Given the description of an element on the screen output the (x, y) to click on. 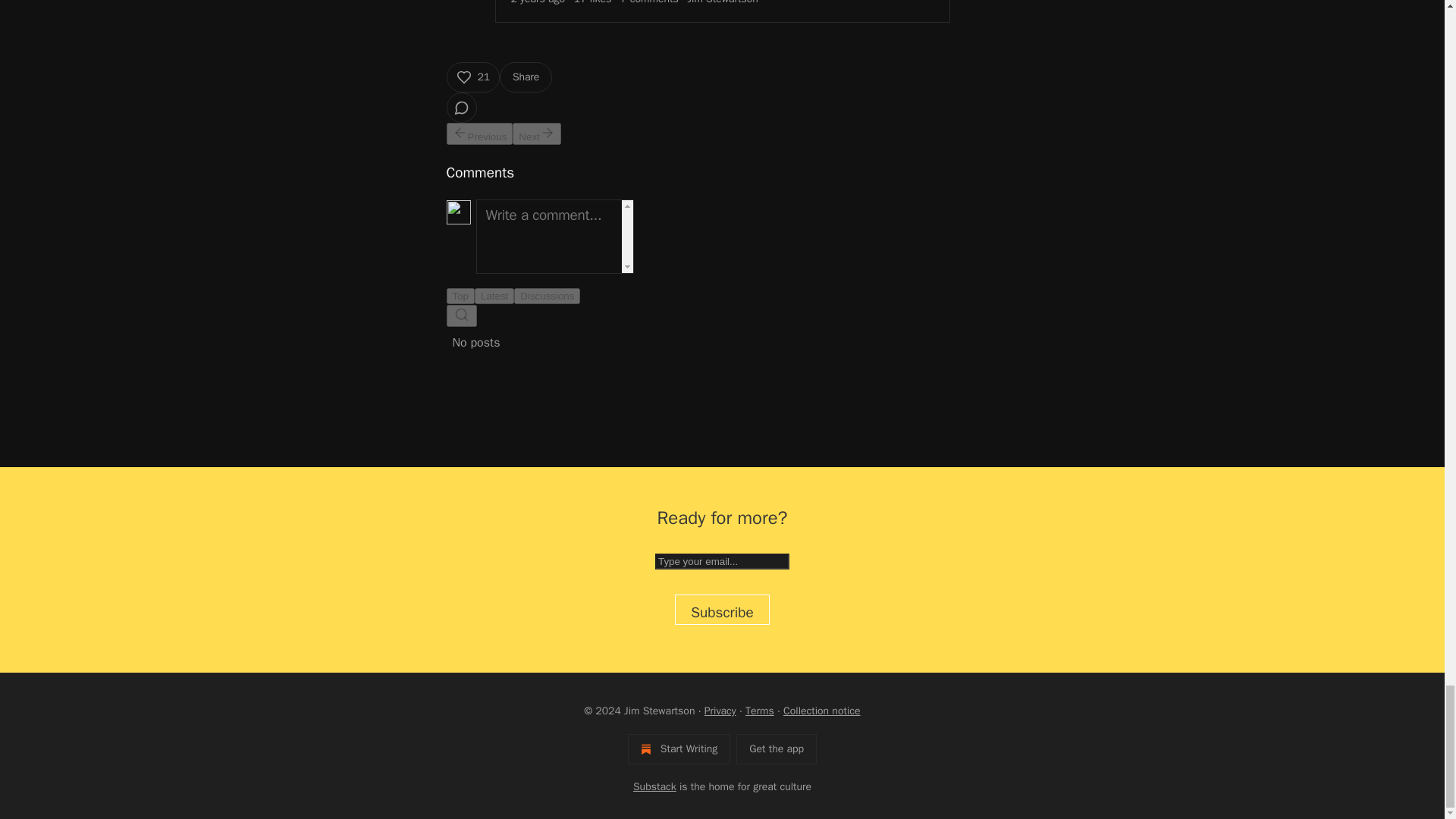
Previous (478, 133)
Share (525, 77)
21 (472, 77)
